Given the description of an element on the screen output the (x, y) to click on. 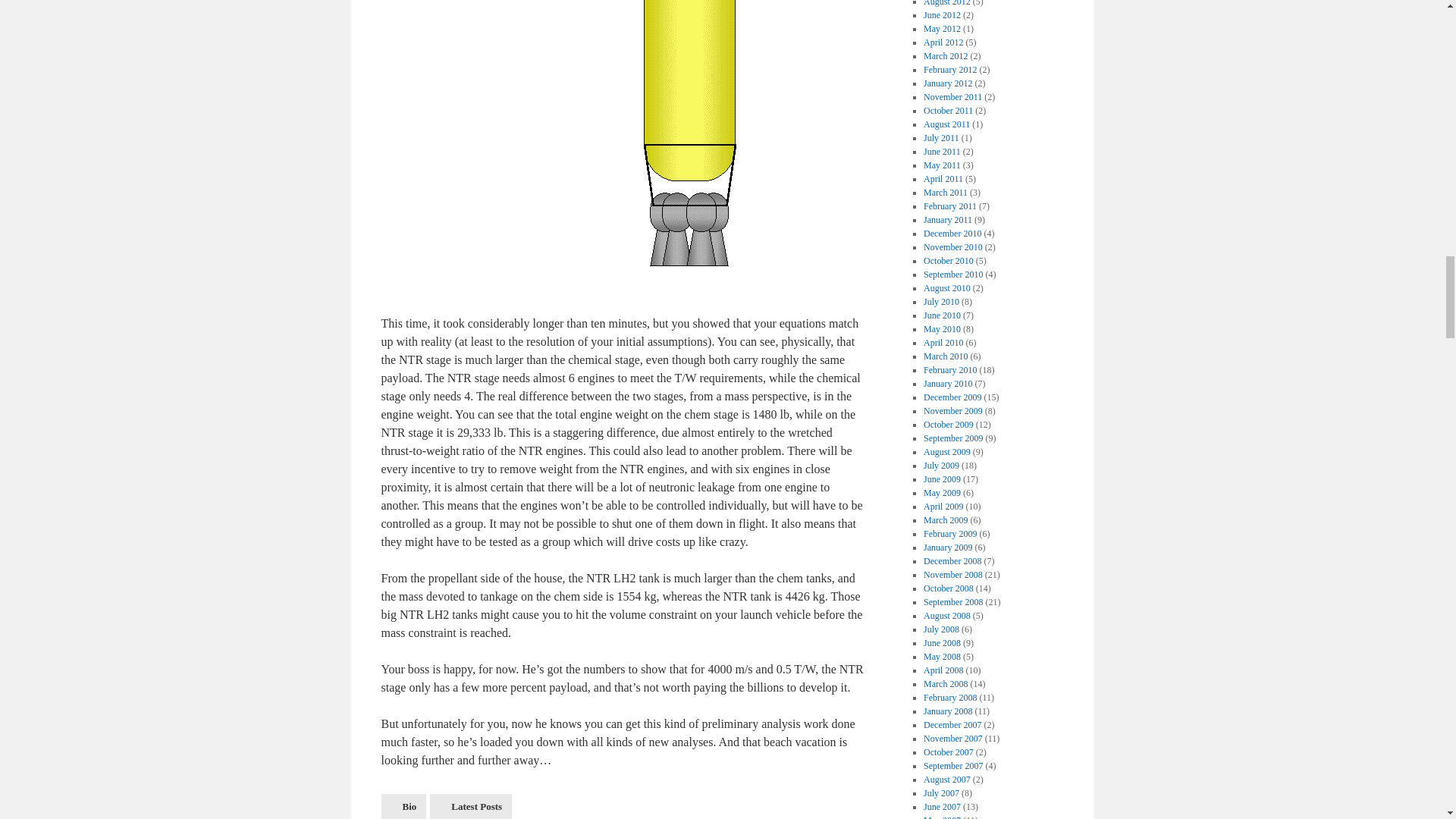
Bio (403, 806)
Latest Posts (470, 806)
